Given the description of an element on the screen output the (x, y) to click on. 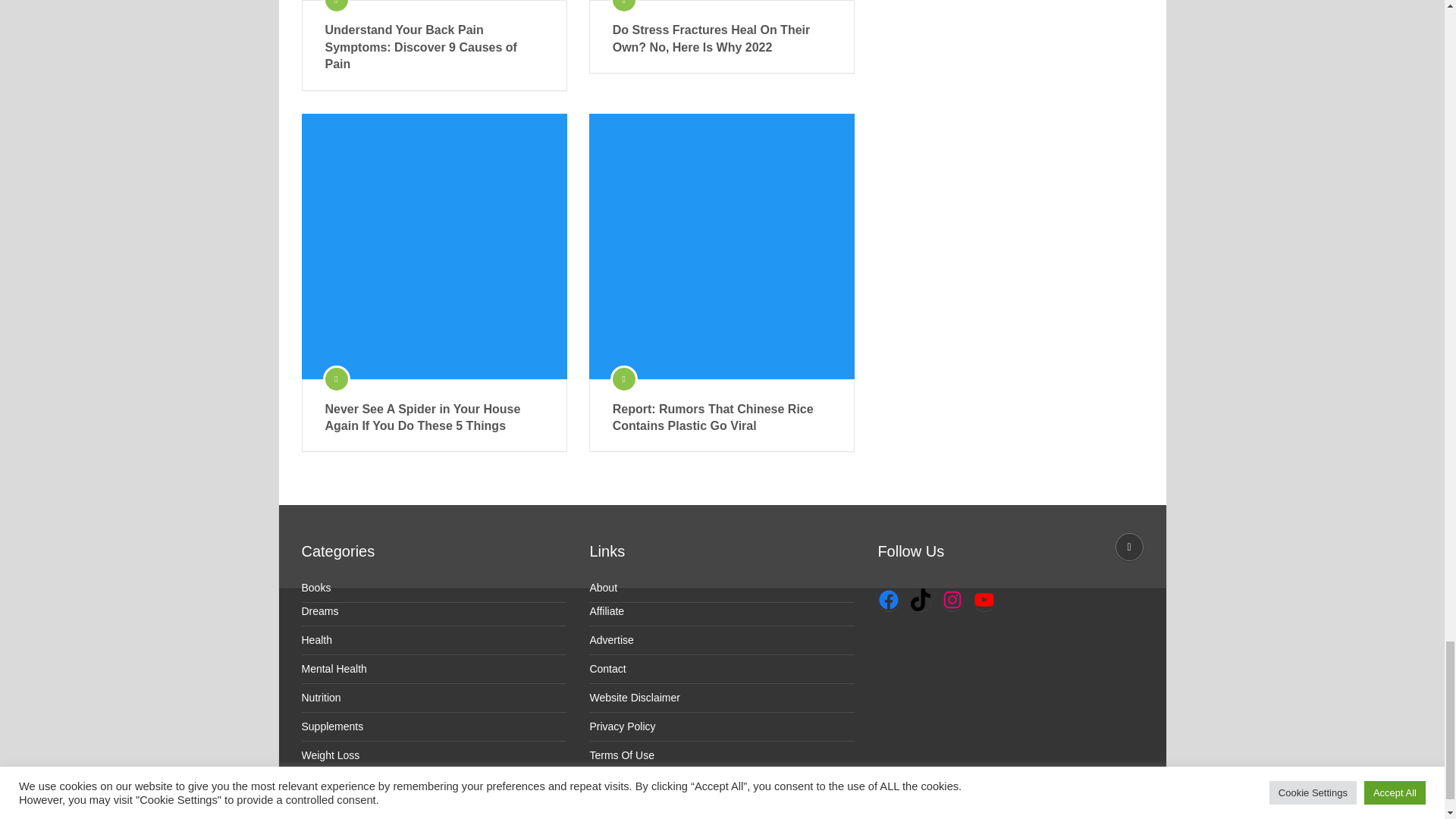
Do Stress Fractures Heal On Their Own? No, Here Is Why 2022 (721, 39)
Report: Rumors That Chinese Rice Contains Plastic Go Viral (721, 417)
